Given the description of an element on the screen output the (x, y) to click on. 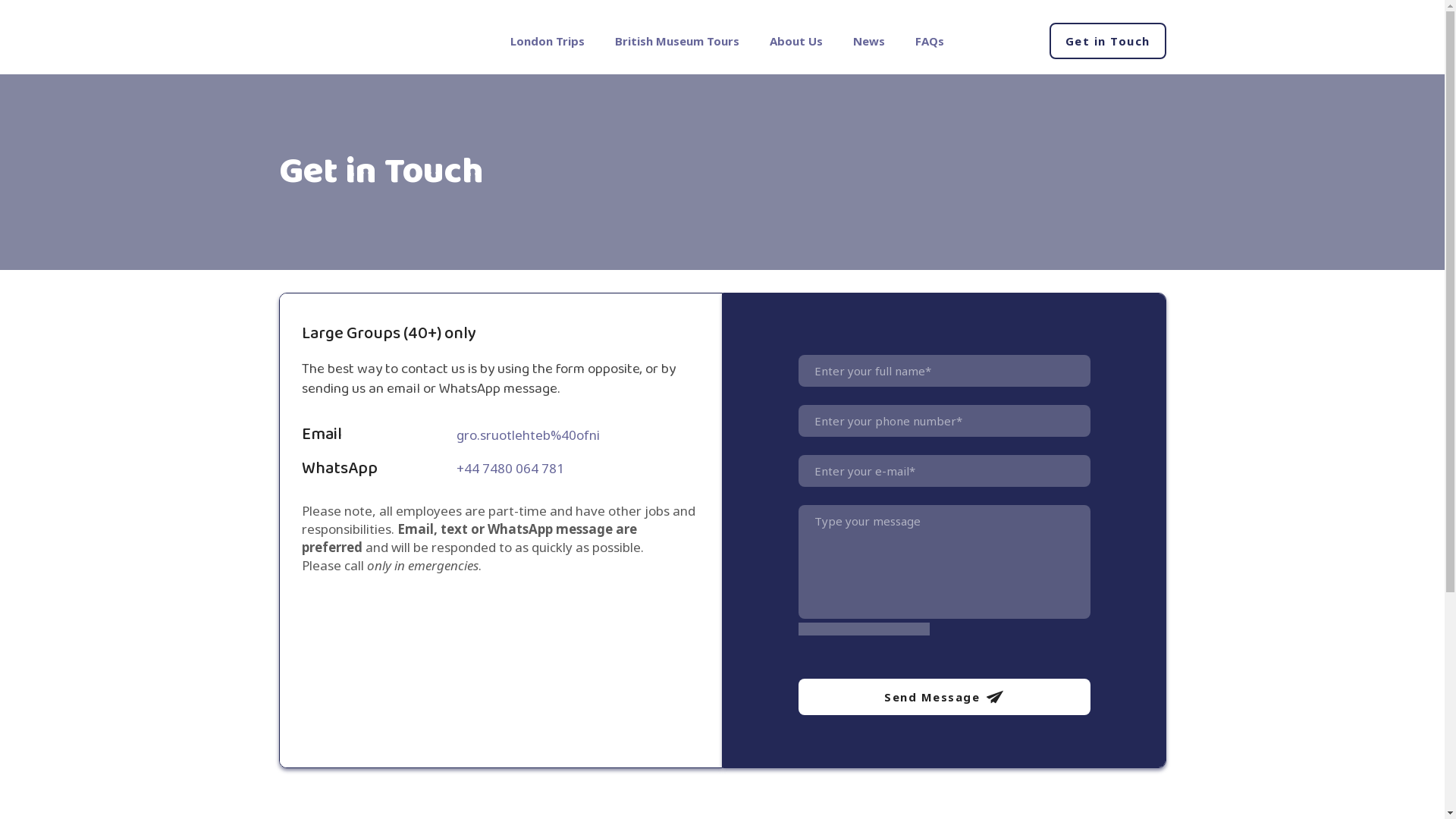
About Us (796, 40)
British Museum Tours (676, 40)
Get in Touch (1107, 40)
FAQs (929, 40)
News (869, 40)
Send Message (943, 696)
London Trips (548, 40)
